Given the description of an element on the screen output the (x, y) to click on. 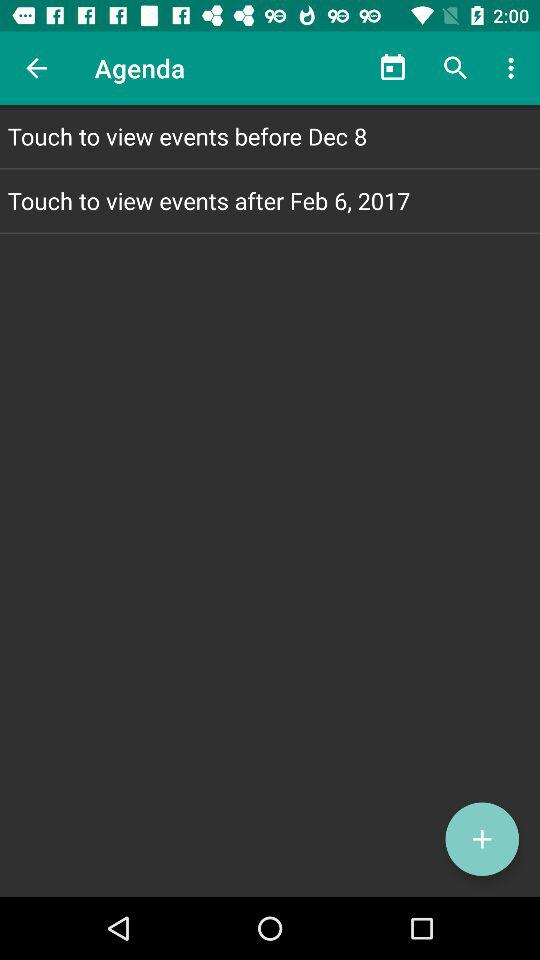
turn off the icon above touch to view item (513, 67)
